Given the description of an element on the screen output the (x, y) to click on. 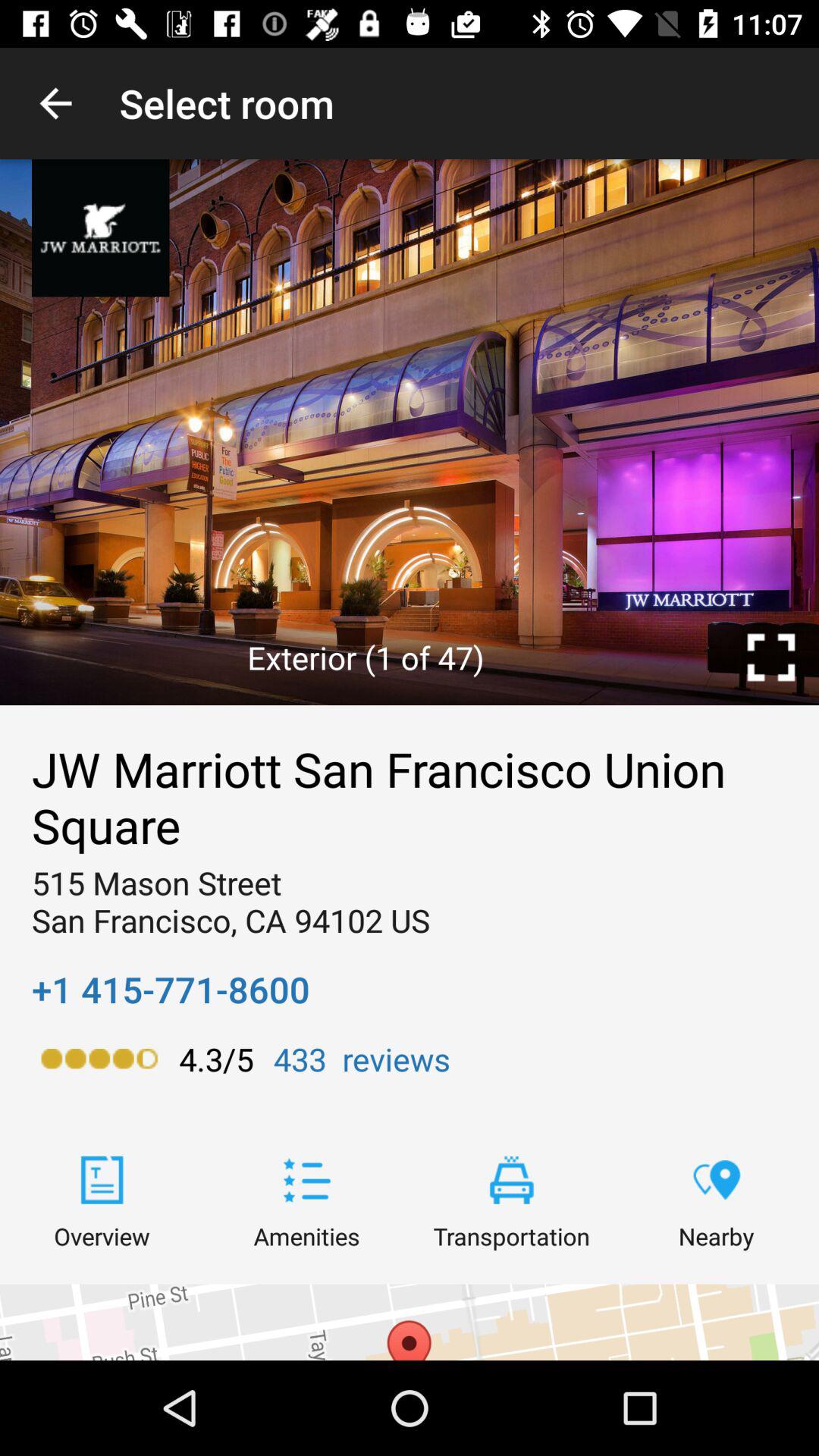
flip until 1 415 771 (170, 989)
